Given the description of an element on the screen output the (x, y) to click on. 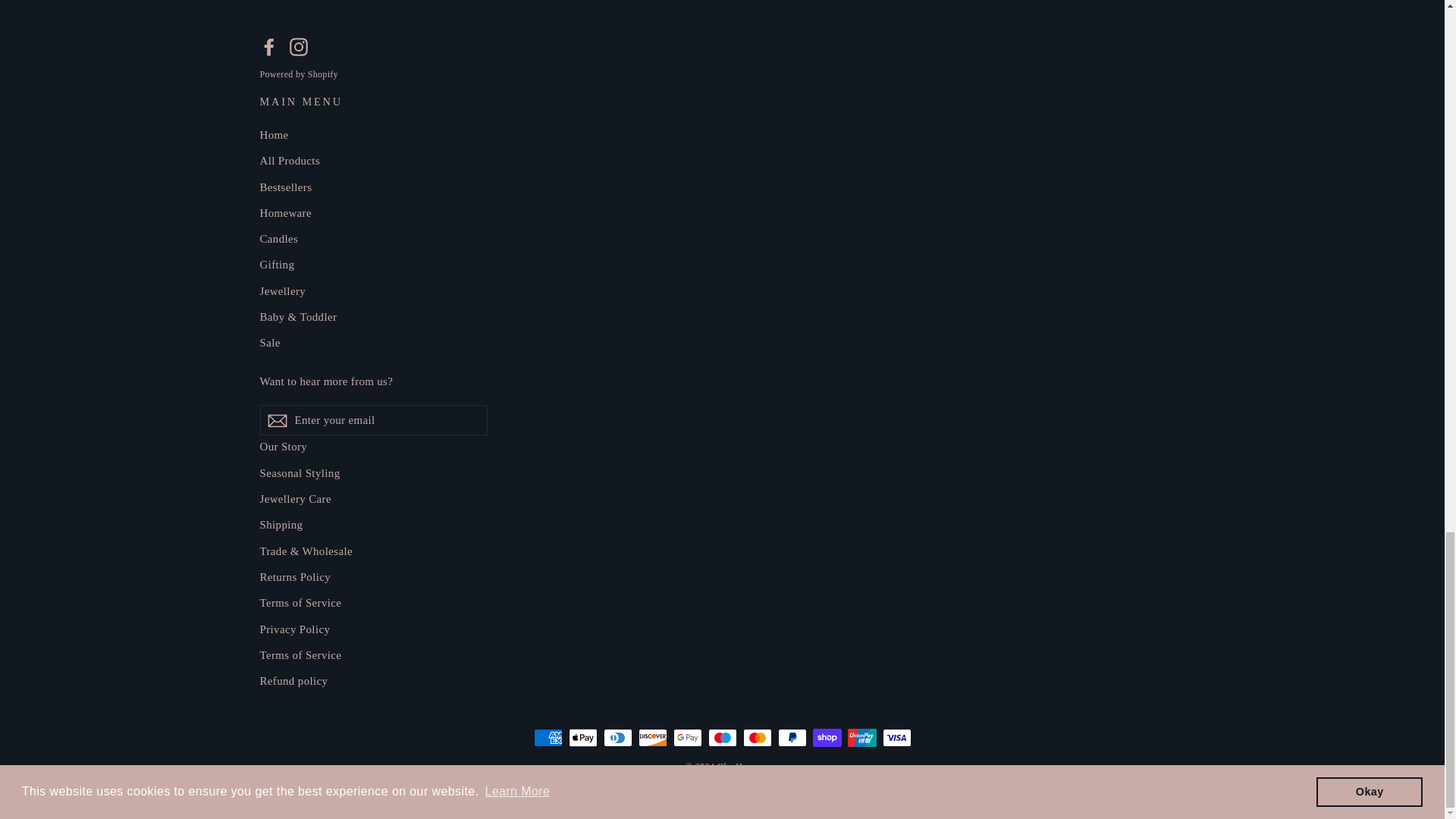
Mastercard (756, 737)
Oba Home on Facebook (268, 46)
Maestro (721, 737)
Discover (652, 737)
Oba Home on Instagram (298, 46)
Shop Pay (826, 737)
Diners Club (617, 737)
Apple Pay (582, 737)
Google Pay (686, 737)
American Express (548, 737)
